Given the description of an element on the screen output the (x, y) to click on. 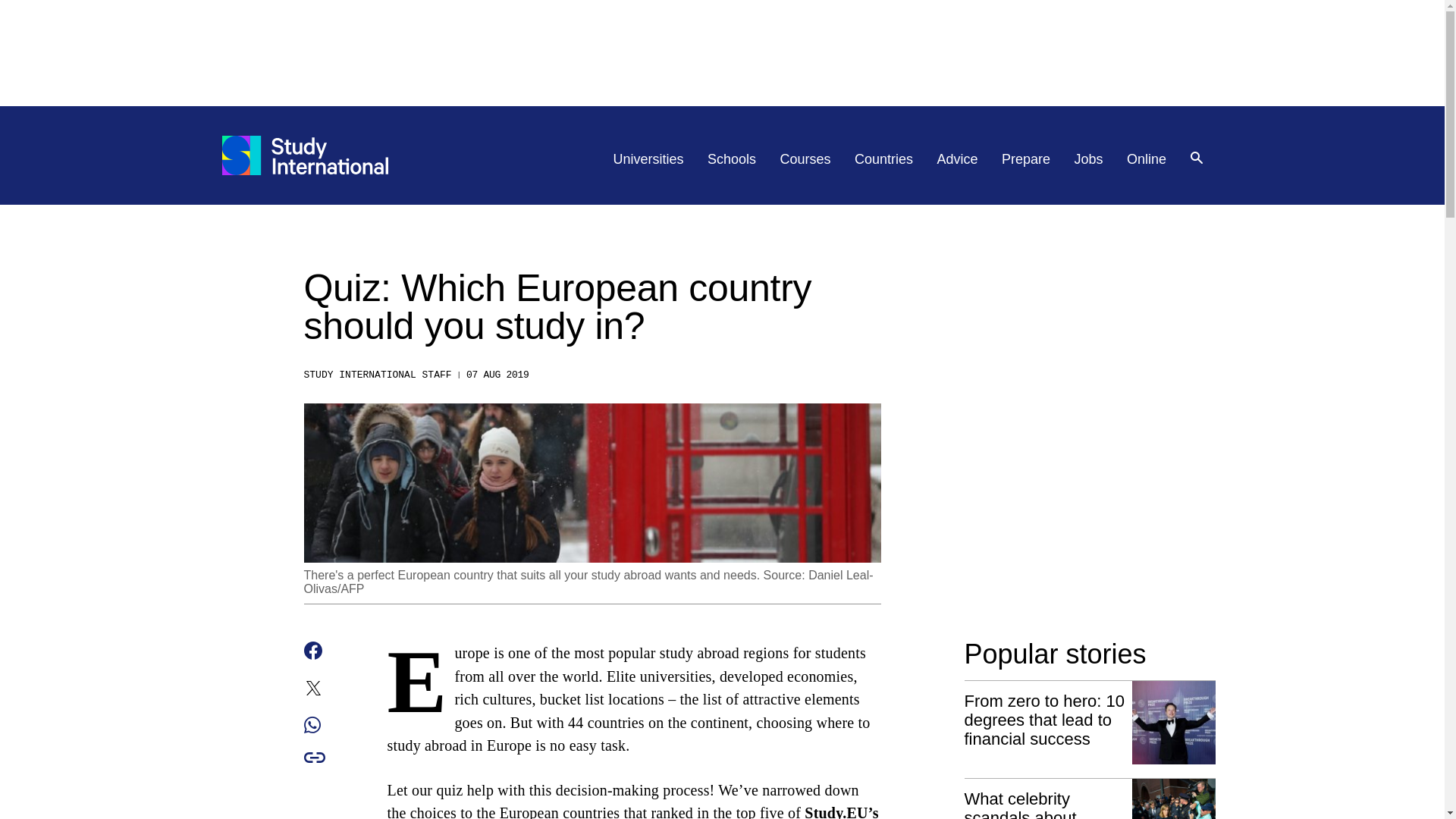
Jobs (1088, 159)
Countries (883, 159)
STUDY INTERNATIONAL STAFF (376, 374)
Advice (957, 159)
Online (1146, 159)
Prepare (1025, 159)
From zero to hero: 10 degrees that lead to financial success (1089, 723)
Universities (648, 159)
Schools (731, 159)
Courses (805, 159)
